Given the description of an element on the screen output the (x, y) to click on. 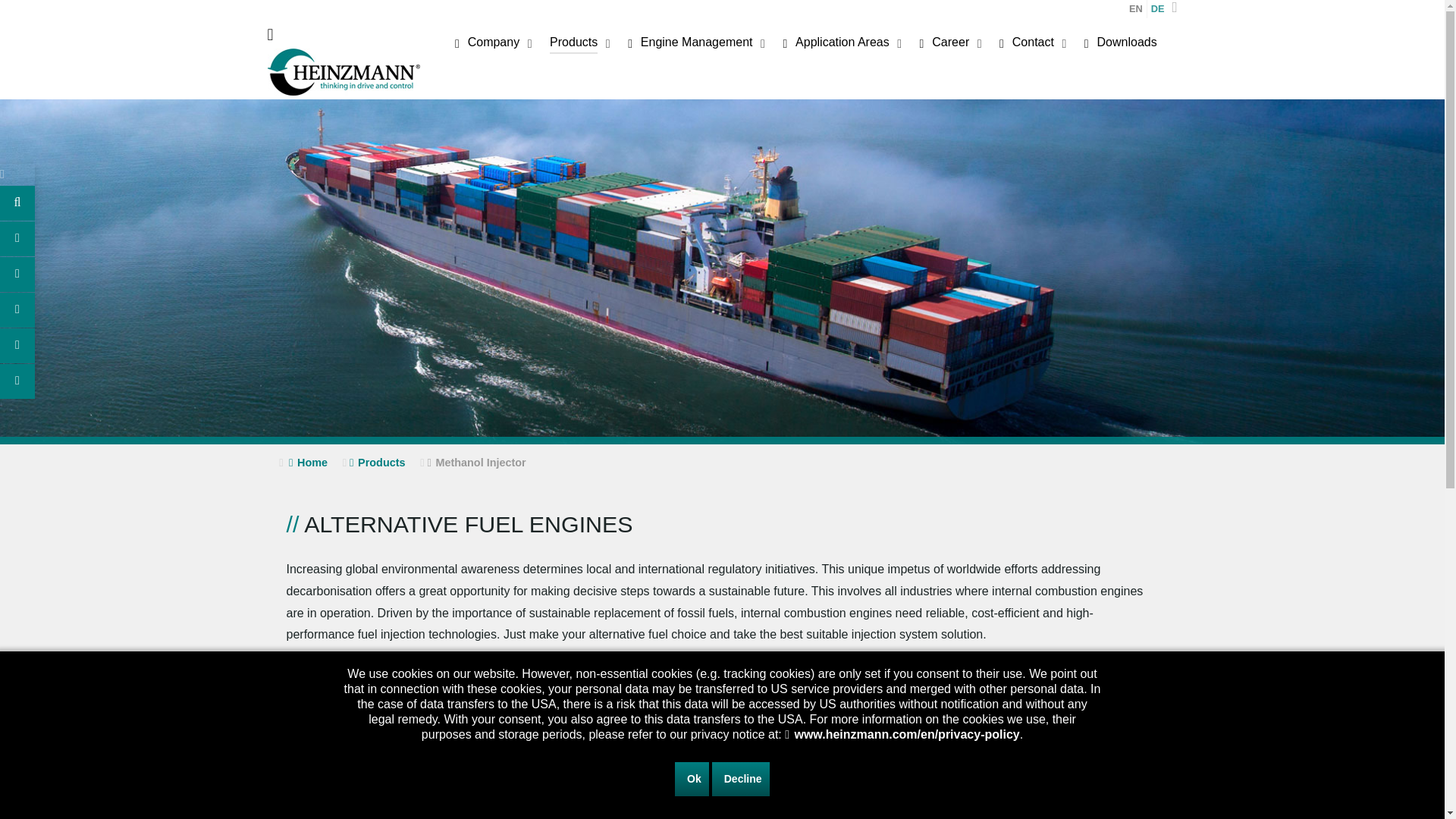
EN (1135, 8)
Company (494, 44)
DE (1157, 8)
